Given the description of an element on the screen output the (x, y) to click on. 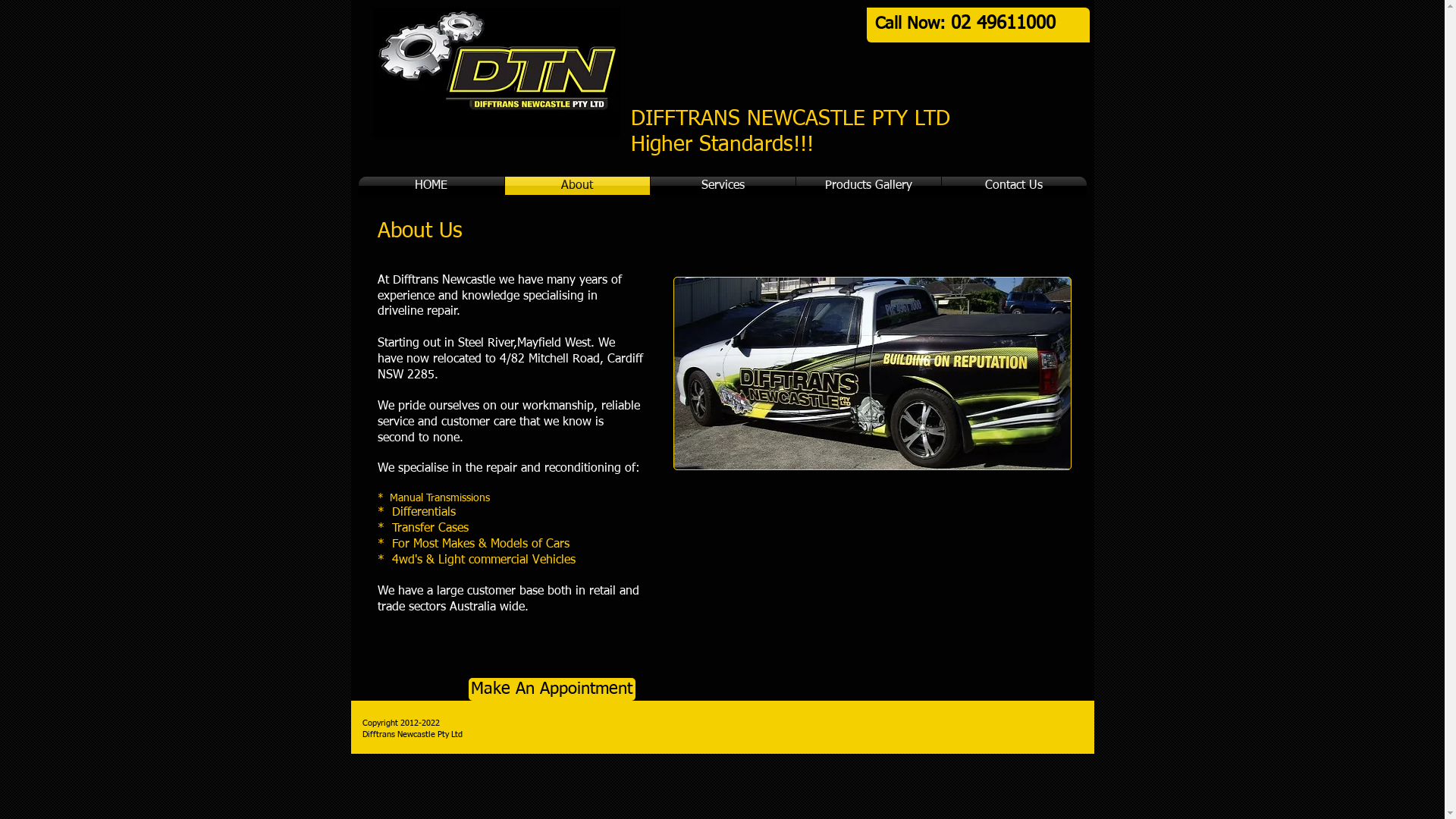
Products Gallery Element type: text (868, 185)
HOME Element type: text (430, 185)
Services Element type: text (722, 185)
About Element type: text (577, 185)
Make An Appointment Element type: text (551, 688)
Contact Us Element type: text (1013, 185)
